Given the description of an element on the screen output the (x, y) to click on. 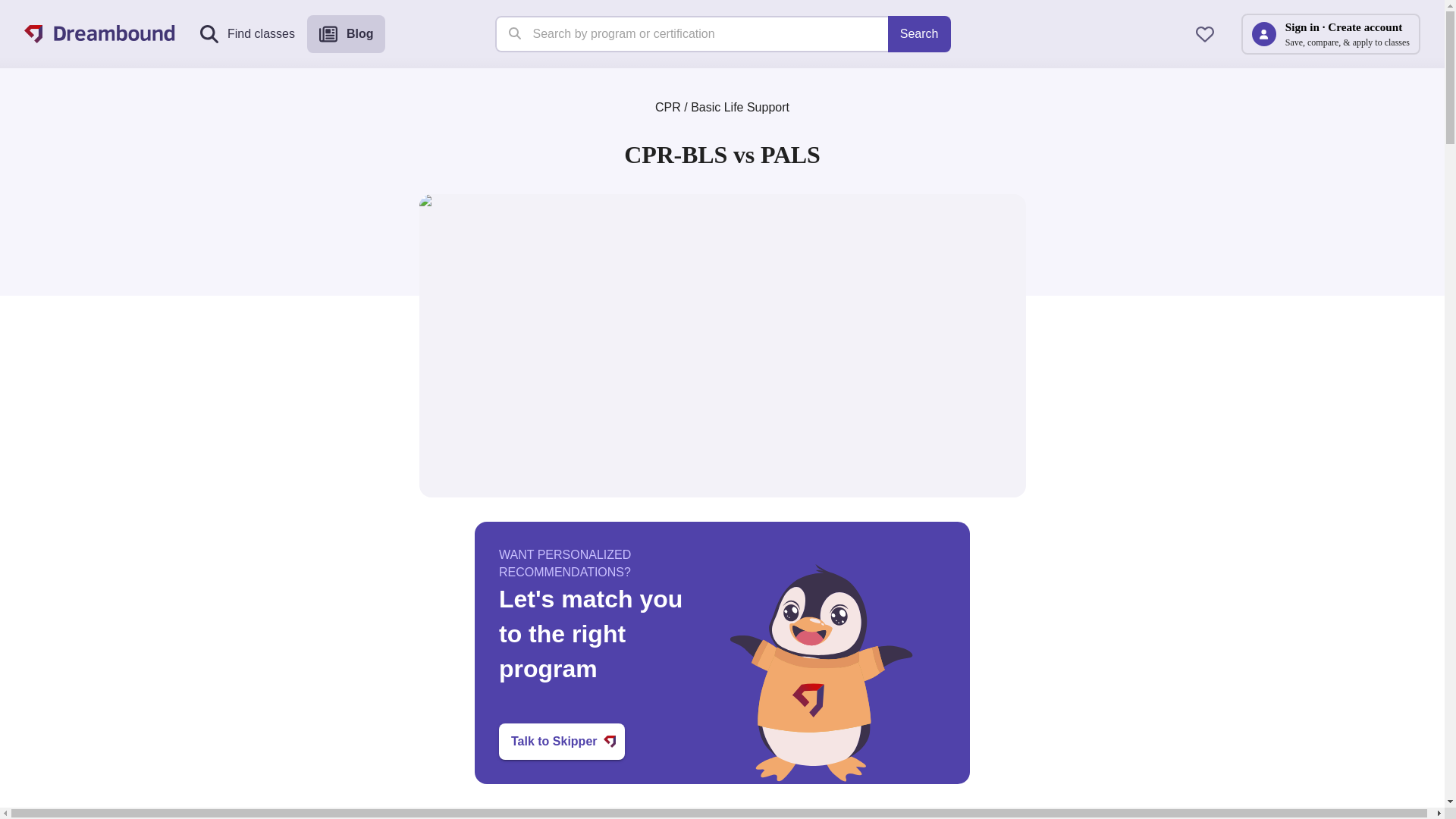
Talk to Skipper (561, 741)
Find classes (247, 34)
Search (919, 33)
Blog (346, 34)
